Given the description of an element on the screen output the (x, y) to click on. 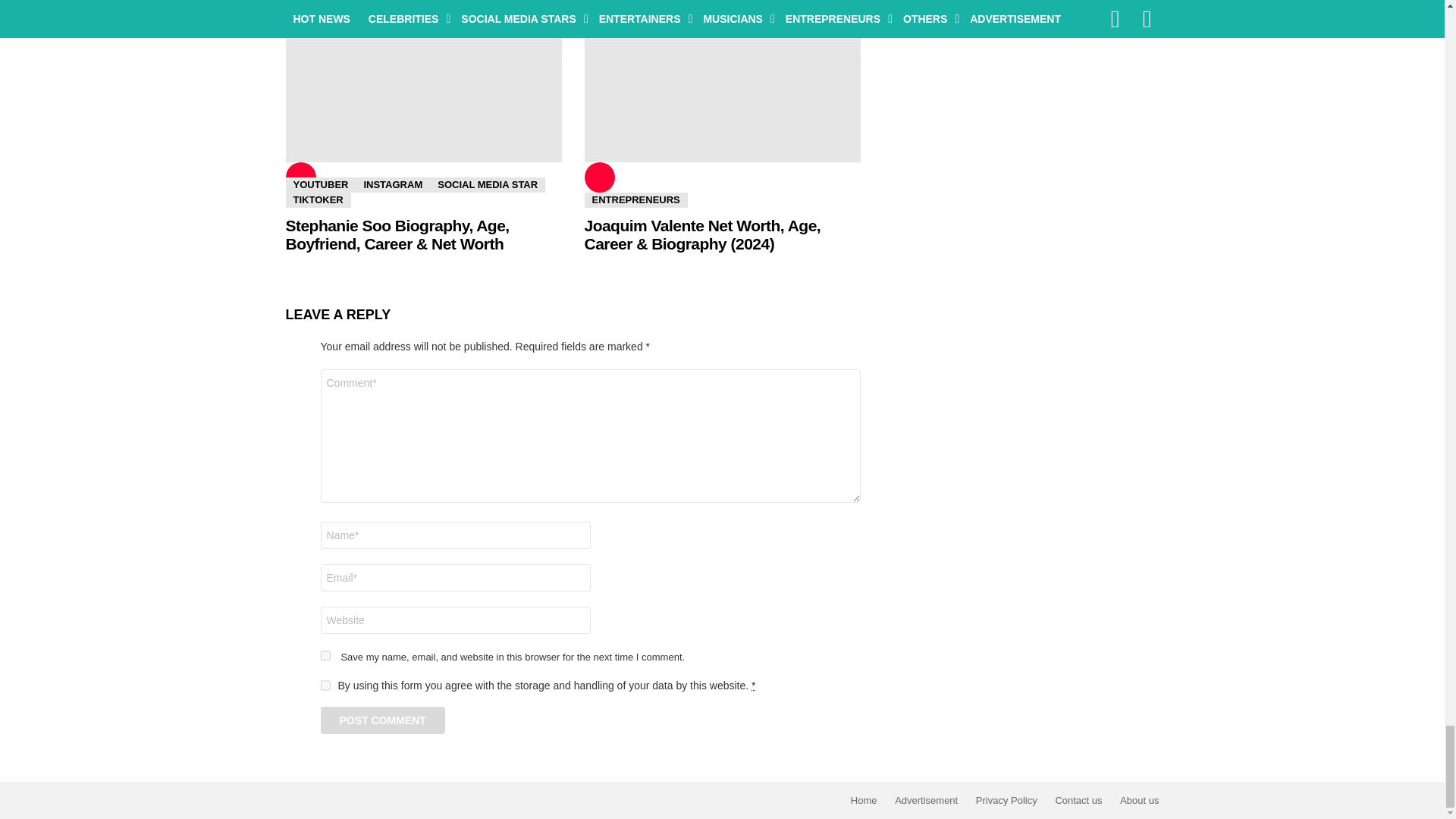
yes (325, 655)
1 (325, 685)
Post Comment (382, 719)
